Given the description of an element on the screen output the (x, y) to click on. 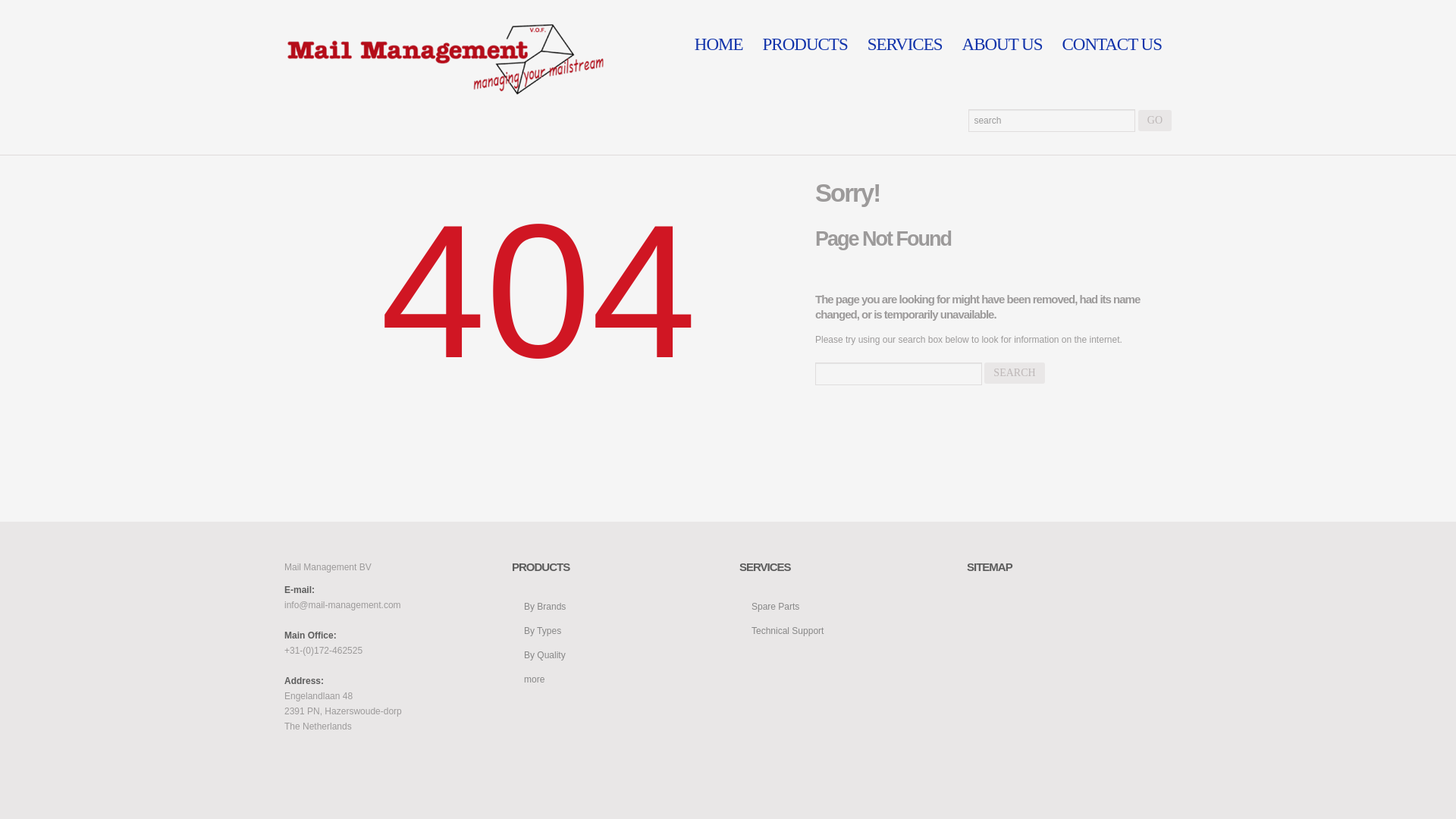
Go (1155, 120)
PRODUCTS (804, 44)
The best place for new or used mailing equipment (444, 59)
Go (1155, 120)
search (1013, 373)
search (1013, 373)
HOME (718, 44)
